Given the description of an element on the screen output the (x, y) to click on. 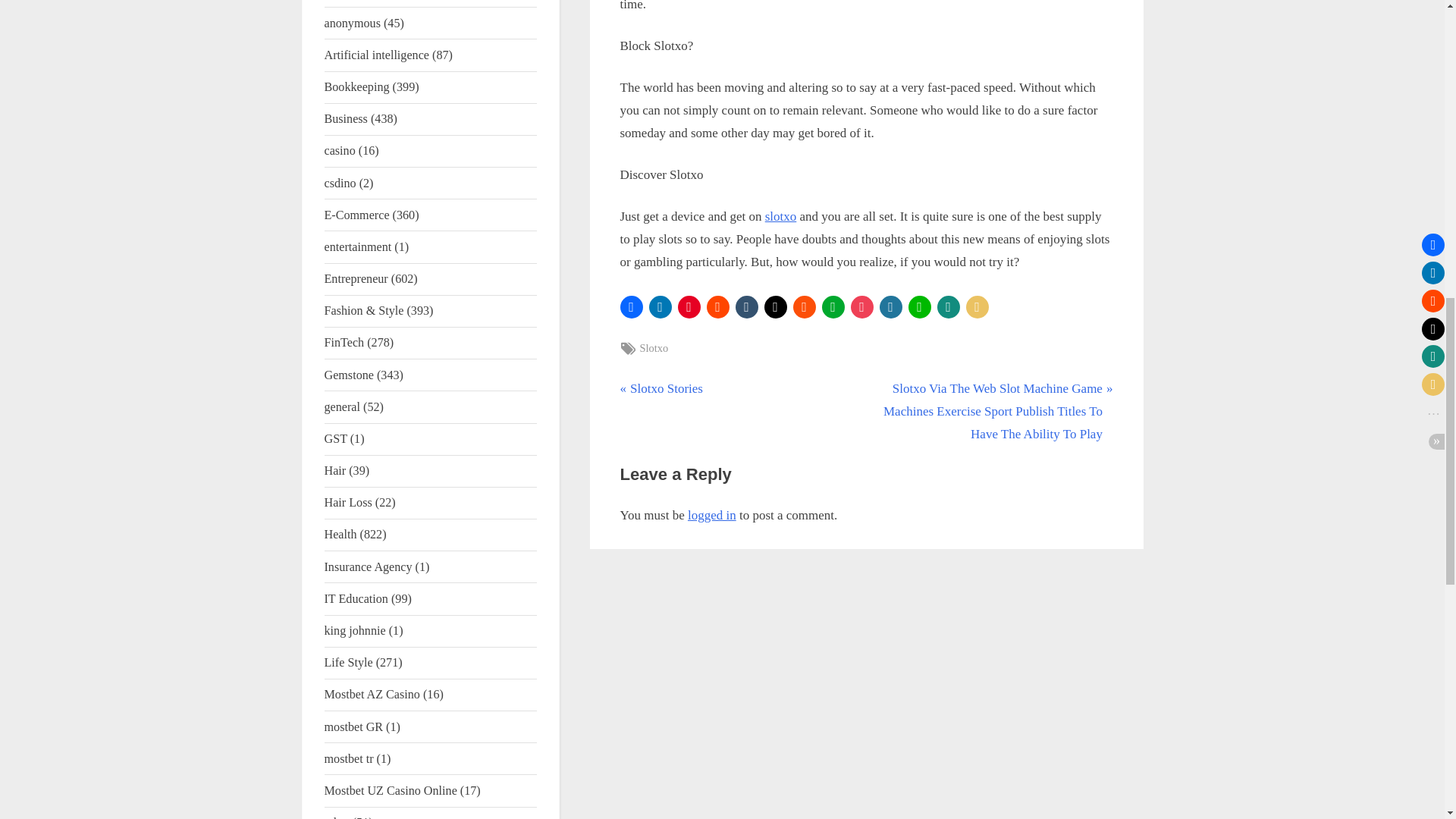
slotxo (661, 388)
Slotxo (780, 216)
logged in (654, 348)
